Given the description of an element on the screen output the (x, y) to click on. 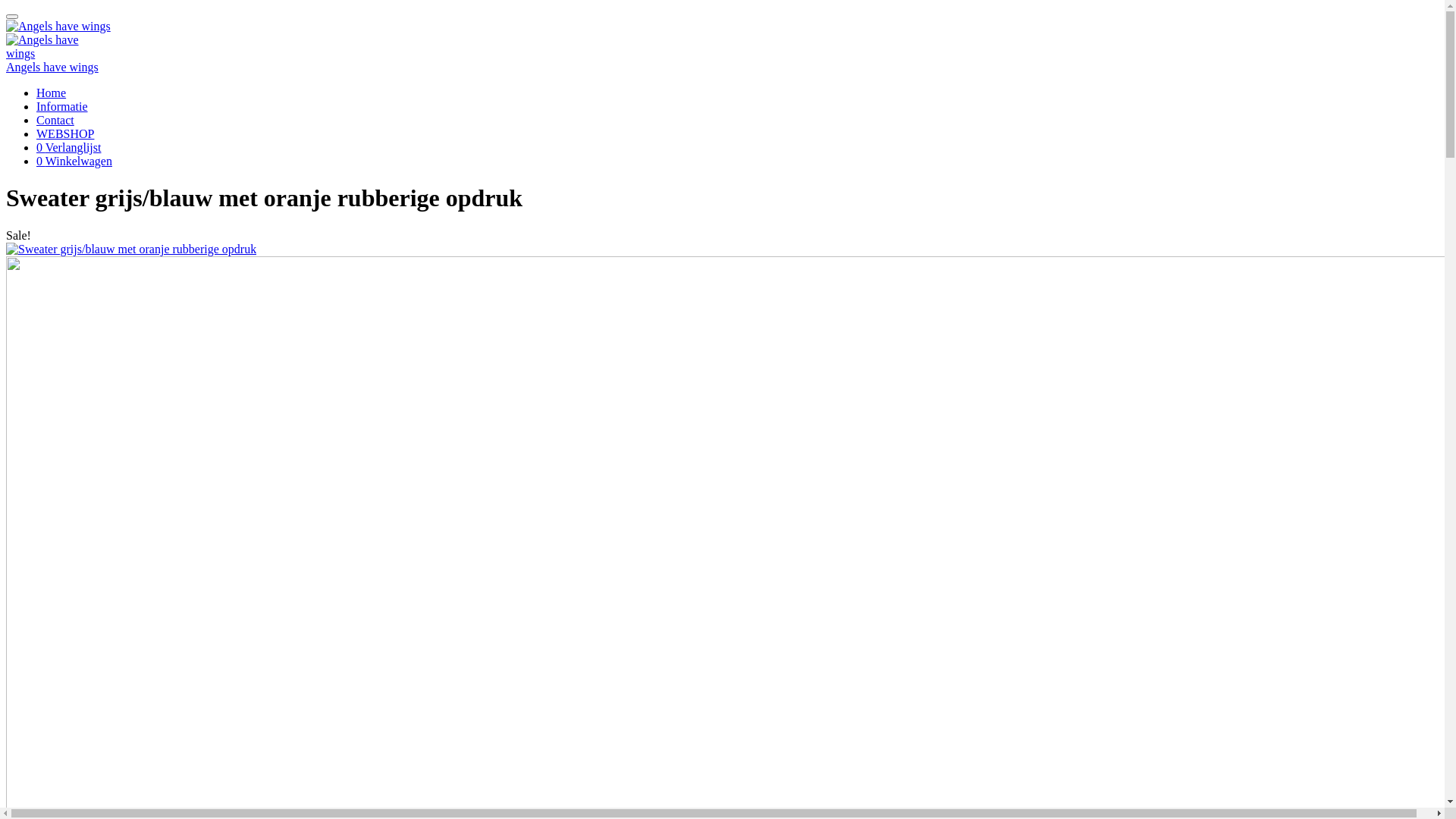
Informatie Element type: text (61, 106)
Angels have wings Element type: text (52, 66)
0 Verlanglijst Element type: text (68, 147)
WEBSHOP Element type: text (65, 133)
Angels have wings Element type: hover (43, 46)
Home Element type: text (50, 92)
Contact Element type: text (55, 119)
0 Winkelwagen Element type: text (74, 160)
Angels have wings Element type: hover (58, 26)
